Given the description of an element on the screen output the (x, y) to click on. 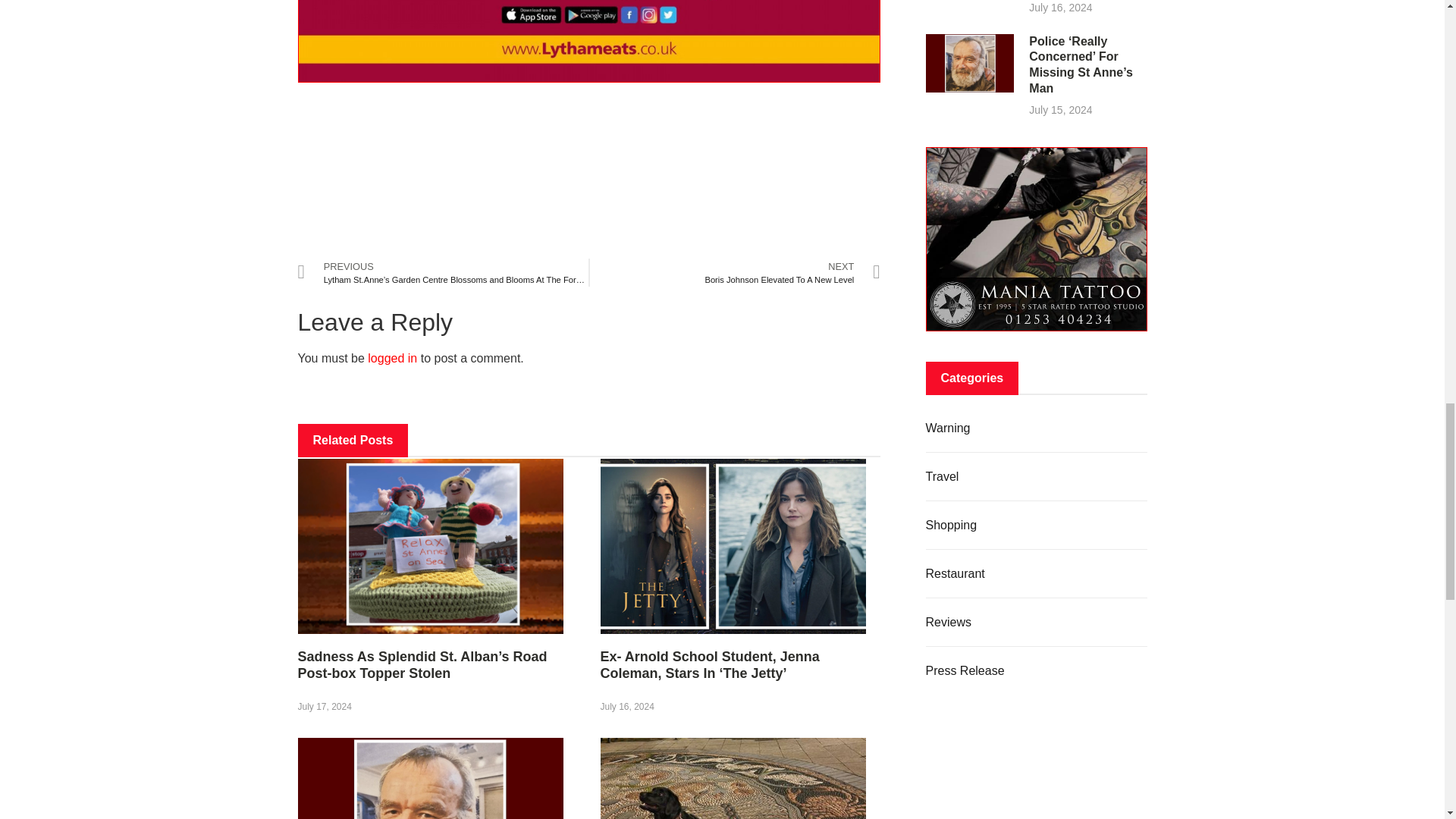
Advertisement (1035, 757)
Advertisement (588, 170)
